Given the description of an element on the screen output the (x, y) to click on. 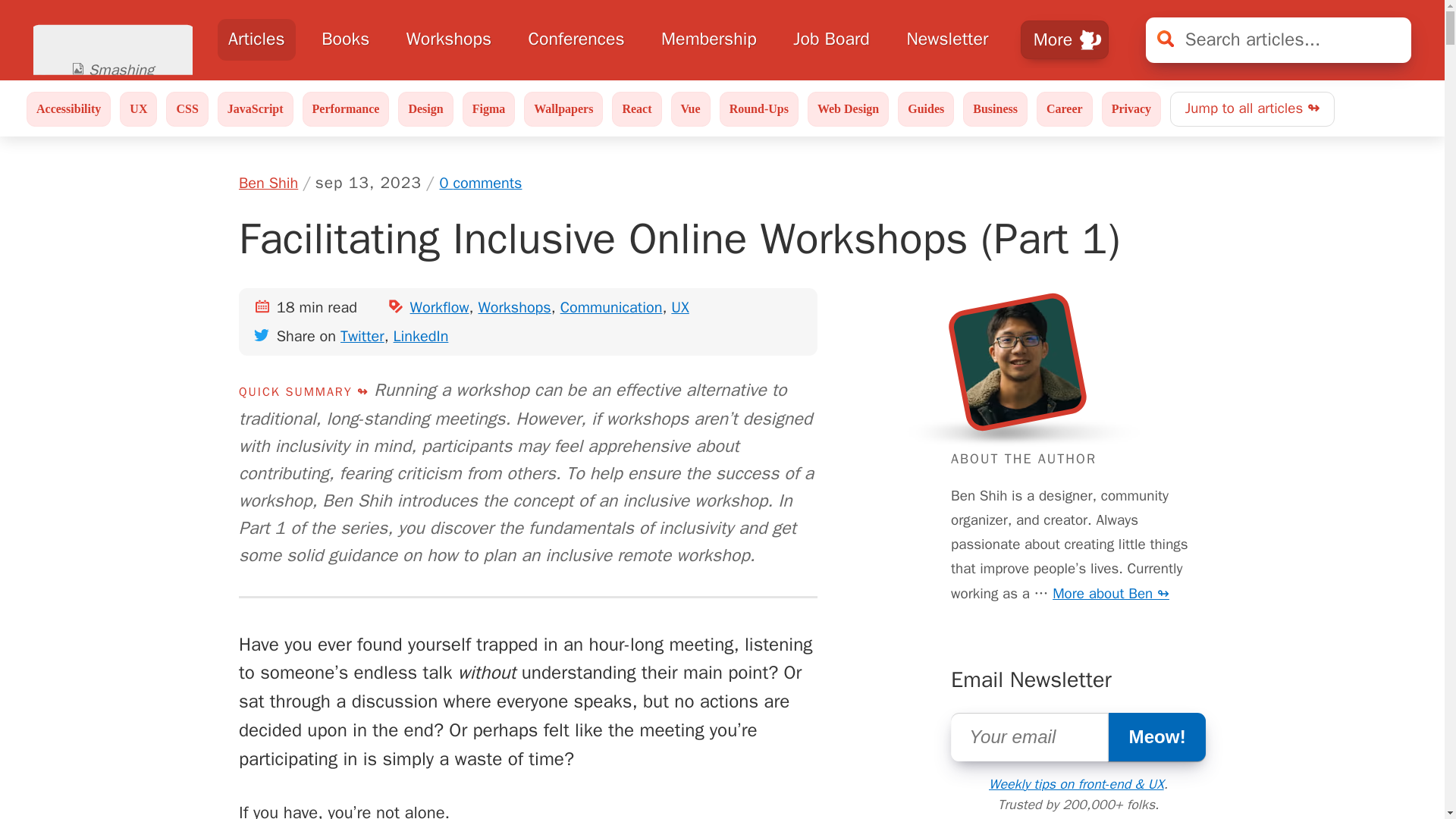
Performance (346, 109)
Books (345, 39)
Accessibility (68, 109)
Workshops (448, 39)
Conferences (575, 39)
JavaScript (255, 109)
Newsletter (946, 39)
Web Design (848, 109)
Figma (489, 109)
UX (138, 109)
